Given the description of an element on the screen output the (x, y) to click on. 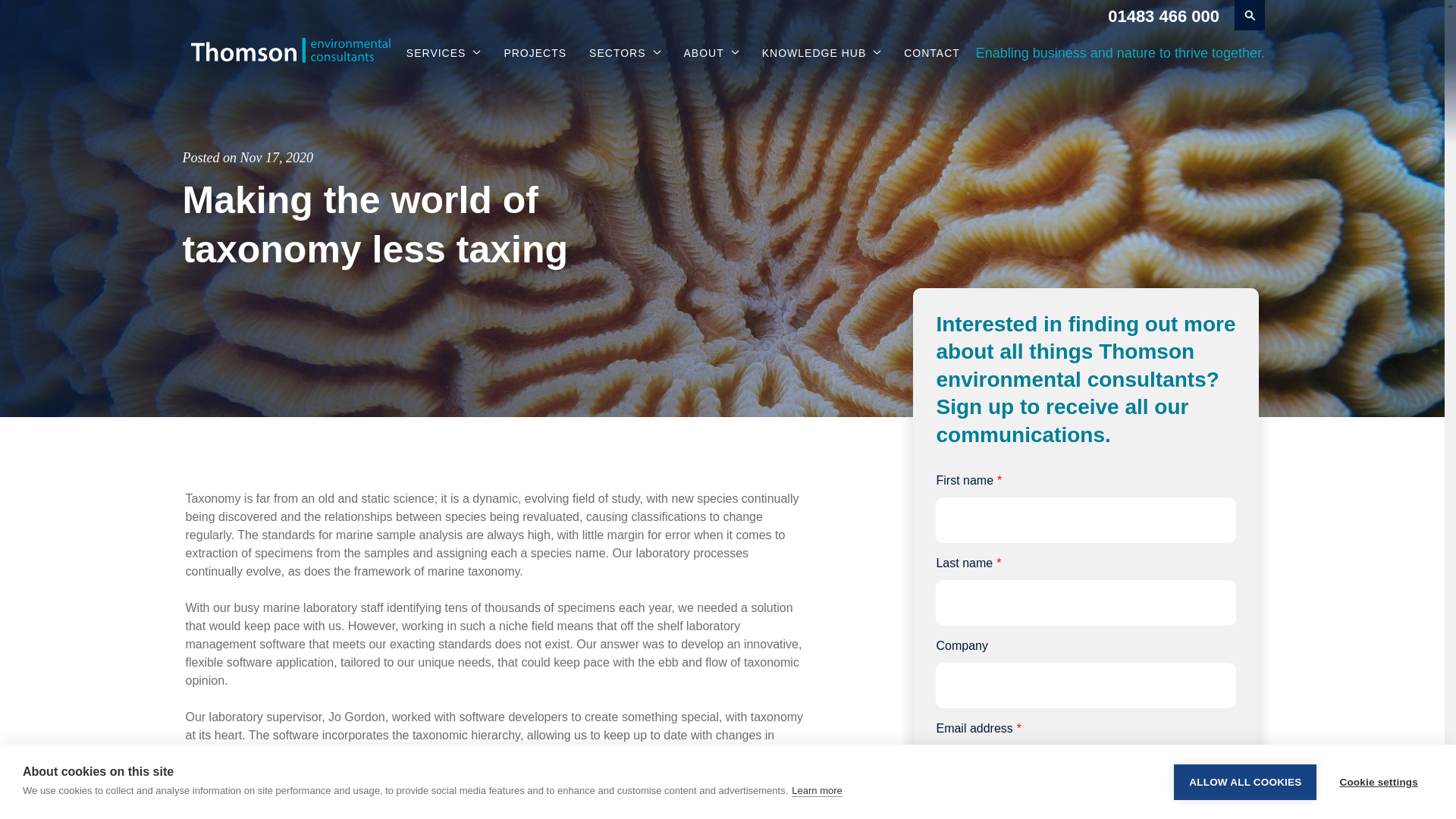
ALLOW ALL COOKIES (1244, 811)
Cookie settings (1377, 803)
SERVICES (443, 53)
search (1249, 15)
